Given the description of an element on the screen output the (x, y) to click on. 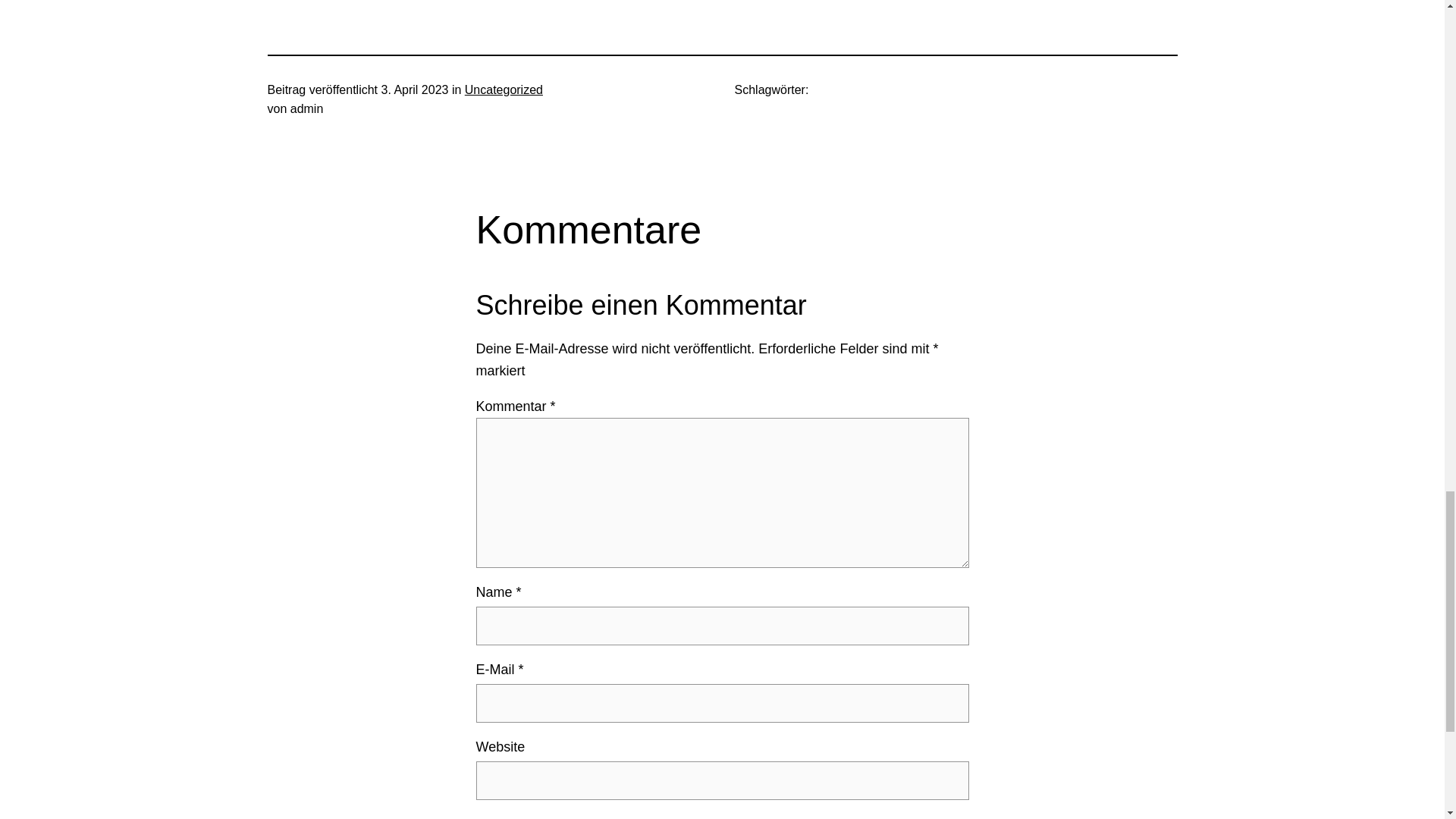
Uncategorized (503, 89)
